Given the description of an element on the screen output the (x, y) to click on. 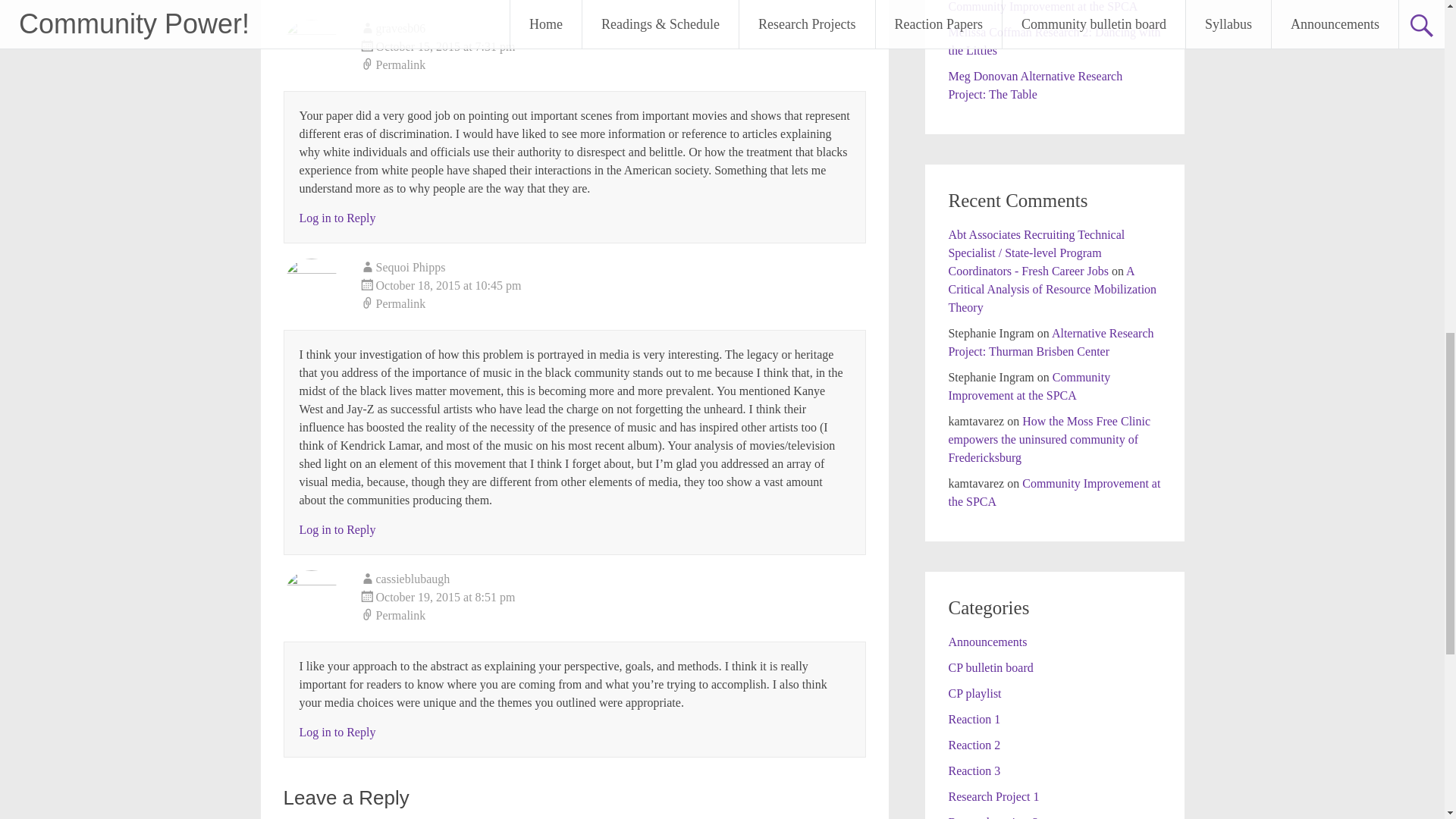
Log in to Reply (336, 731)
Permalink (612, 65)
Permalink (612, 615)
Log in to Reply (336, 529)
Melissa Coffman Research 2: Dancing with the Littles (1053, 40)
Log in to Reply (336, 217)
Permalink (612, 303)
Community Improvement at the SPCA (1042, 6)
Meg Donovan Alternative Research Project: The Table (1034, 84)
